Given the description of an element on the screen output the (x, y) to click on. 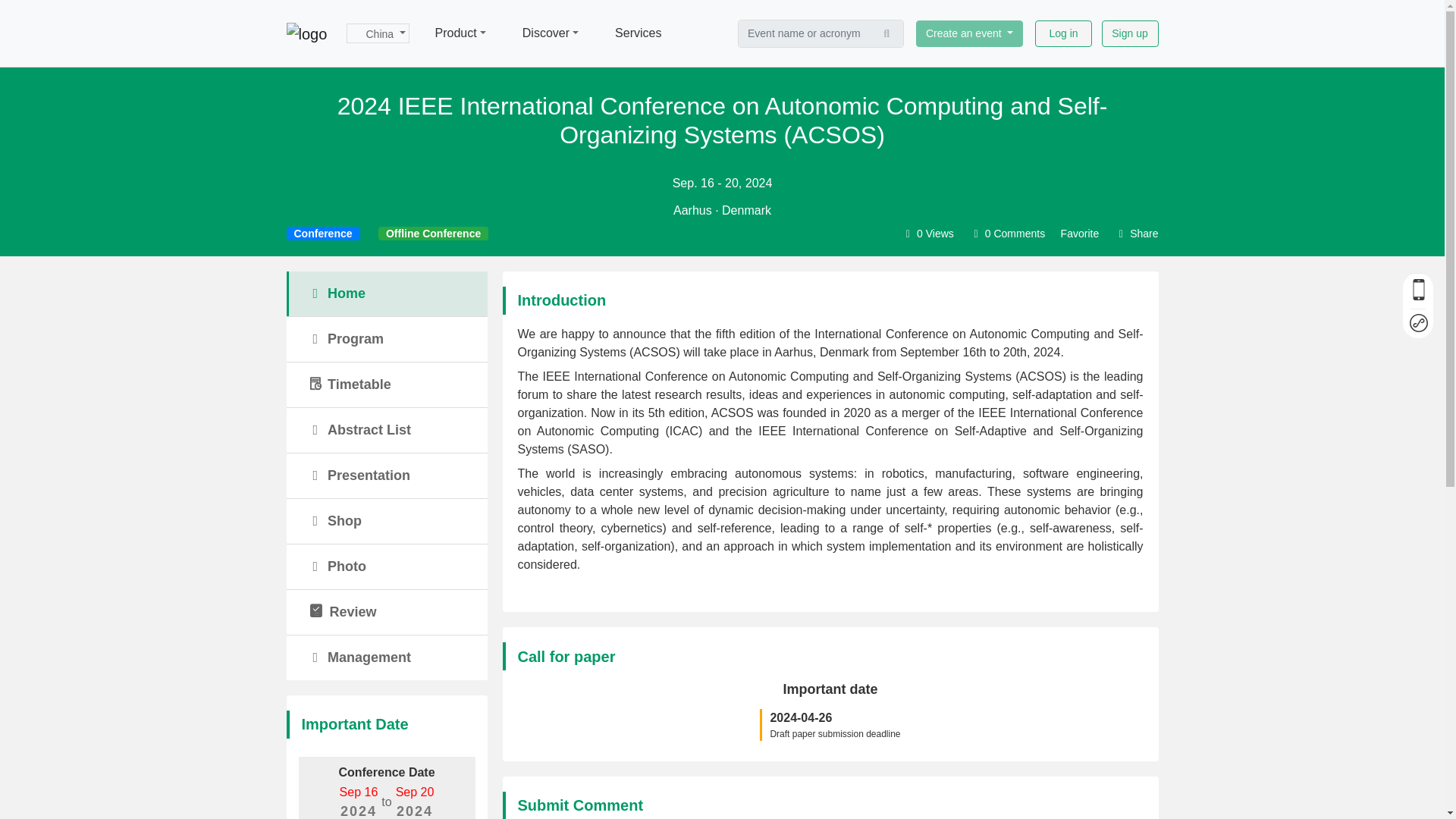
China (377, 32)
